Given the description of an element on the screen output the (x, y) to click on. 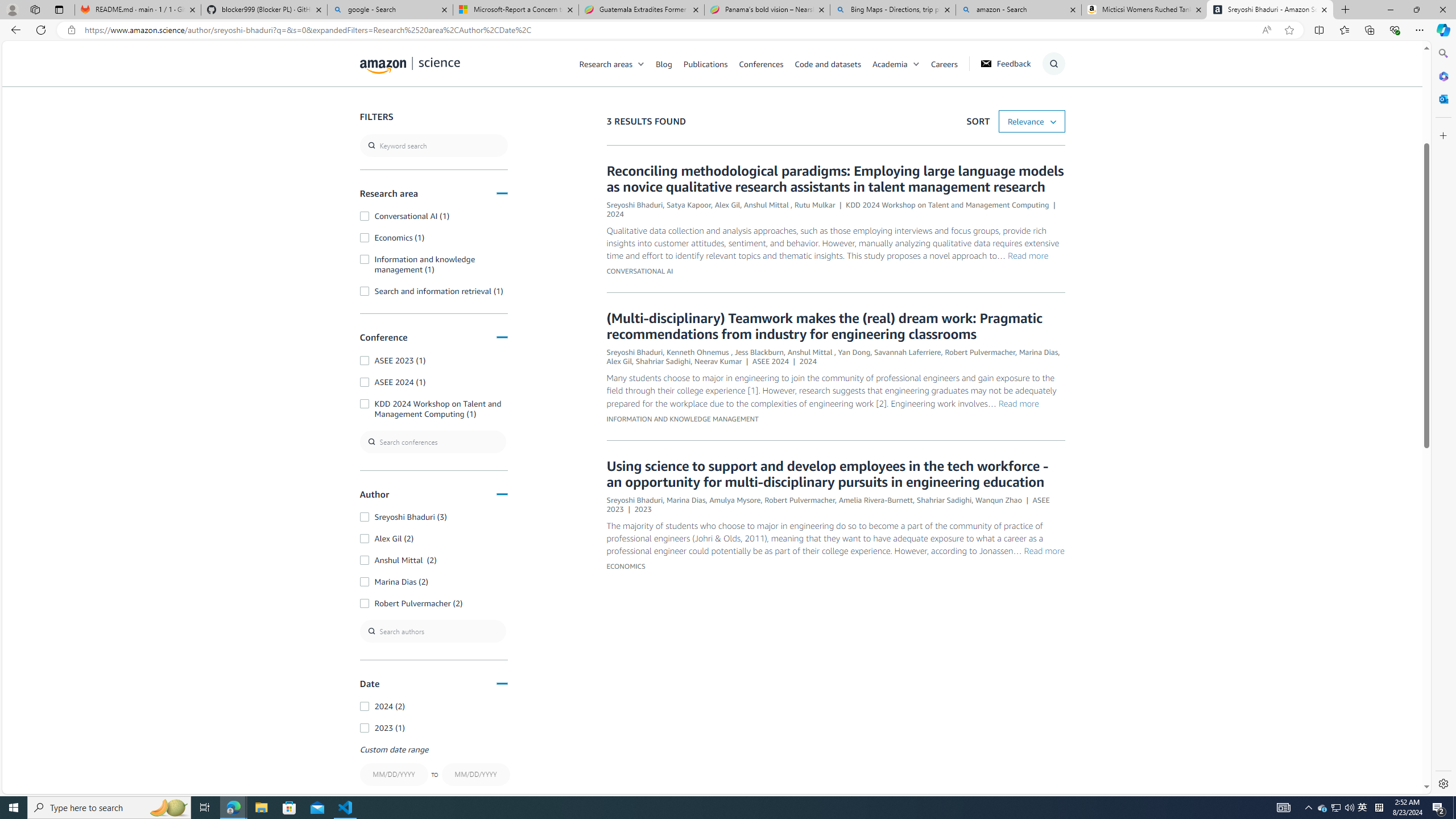
home page (409, 62)
INFORMATION AND KNOWLEDGE MANAGEMENT (681, 418)
Class: chevron (916, 66)
Academia (889, 63)
